Given the description of an element on the screen output the (x, y) to click on. 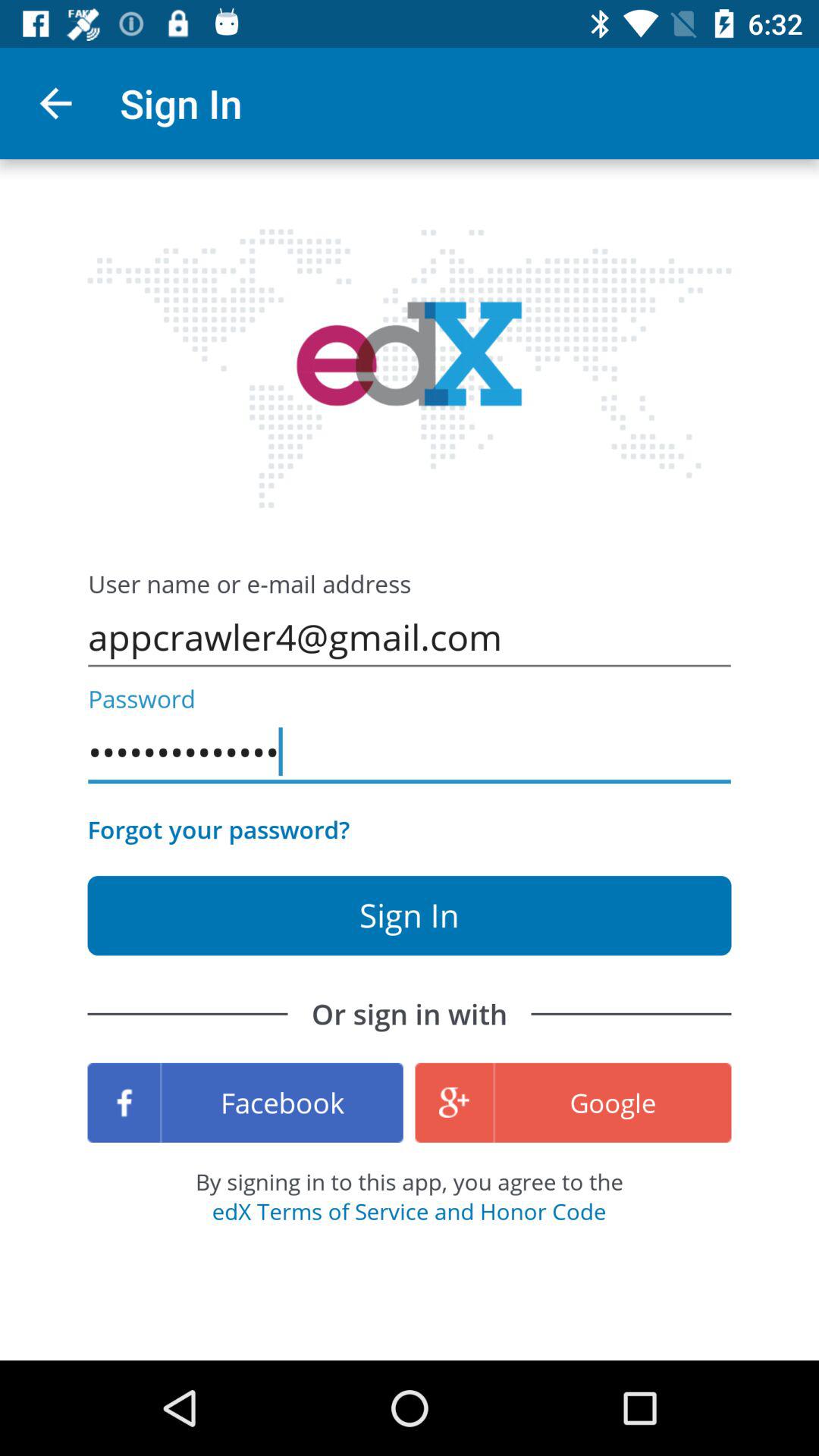
turn on the item on the left (218, 829)
